Given the description of an element on the screen output the (x, y) to click on. 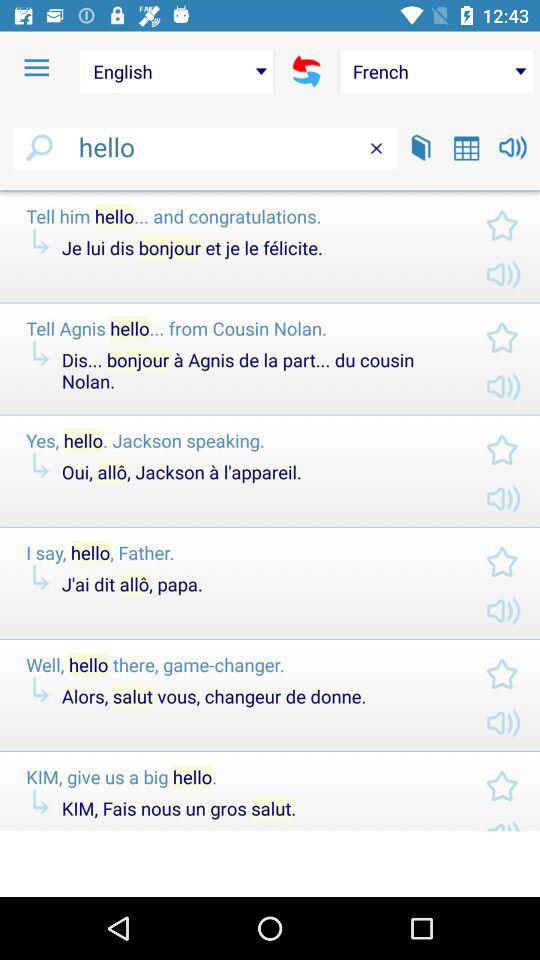
launch the icon next to the french (306, 71)
